Given the description of an element on the screen output the (x, y) to click on. 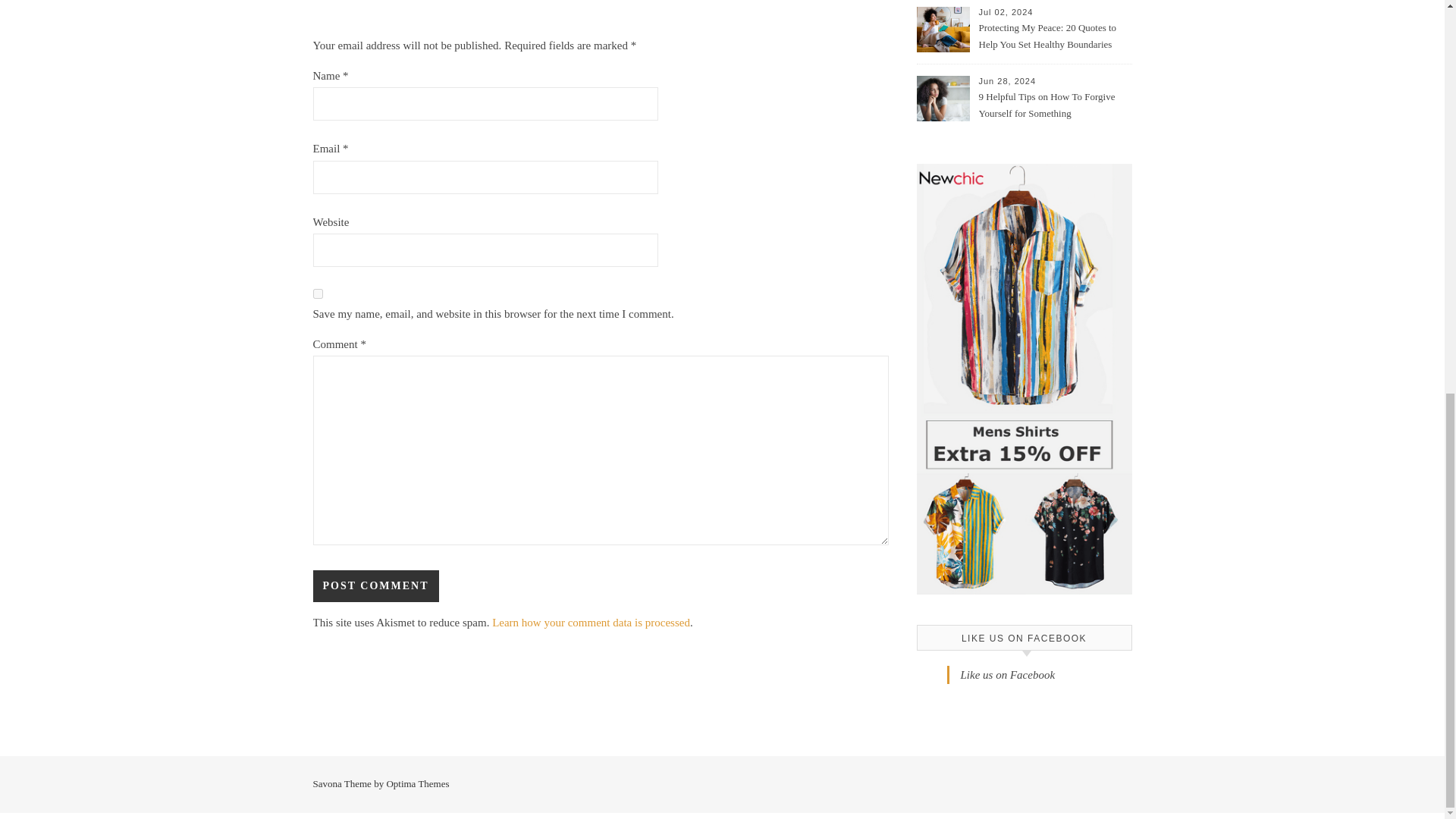
Post Comment (375, 585)
LIKE US ON FACEBOOK (1023, 638)
yes (317, 293)
Learn how your comment data is processed (591, 622)
Post Comment (375, 585)
